Given the description of an element on the screen output the (x, y) to click on. 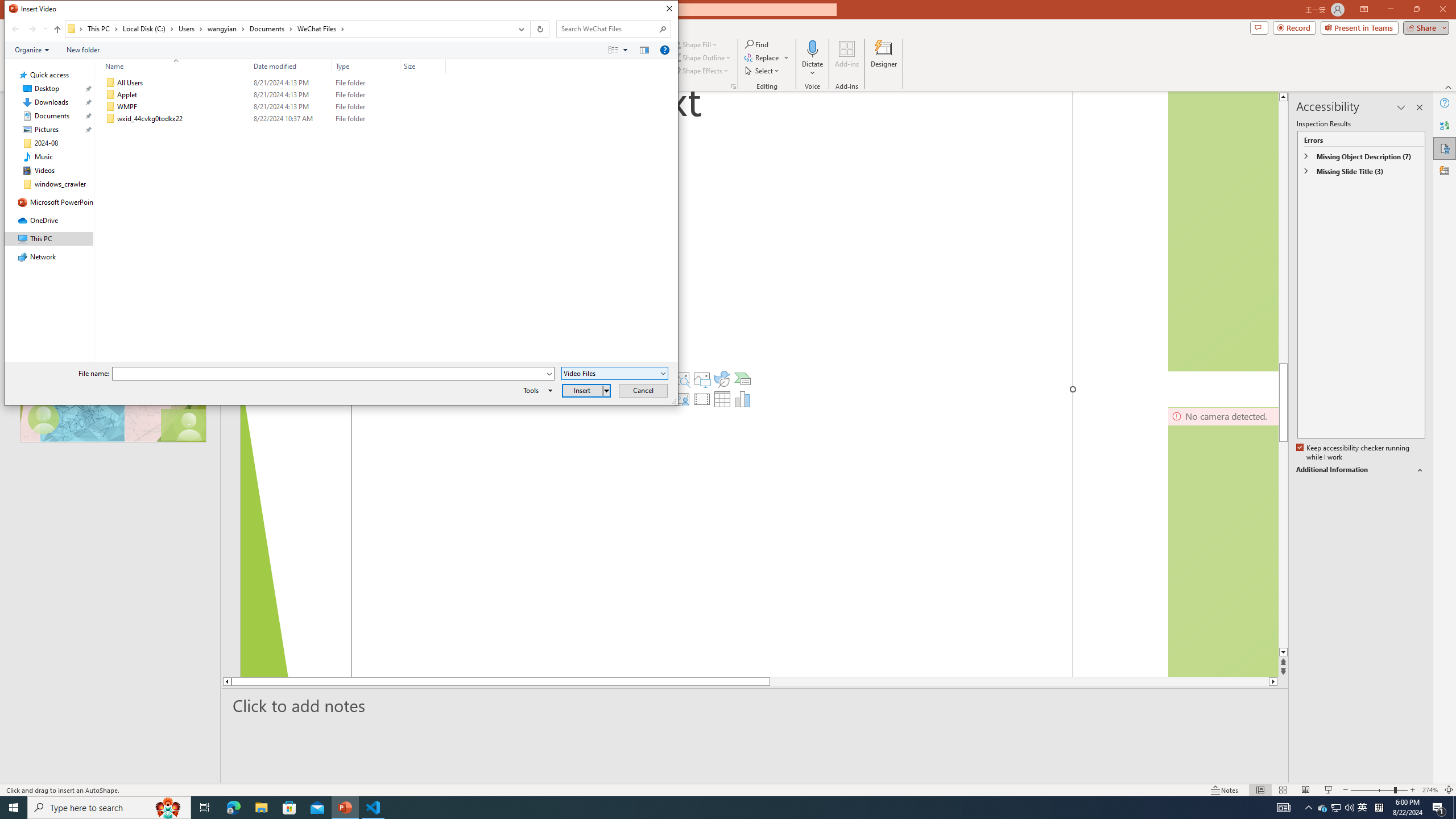
Camera 3, No camera detected. (1222, 541)
File name: (329, 373)
Forward (Alt + Right Arrow) (31, 28)
All locations (75, 28)
